Given the description of an element on the screen output the (x, y) to click on. 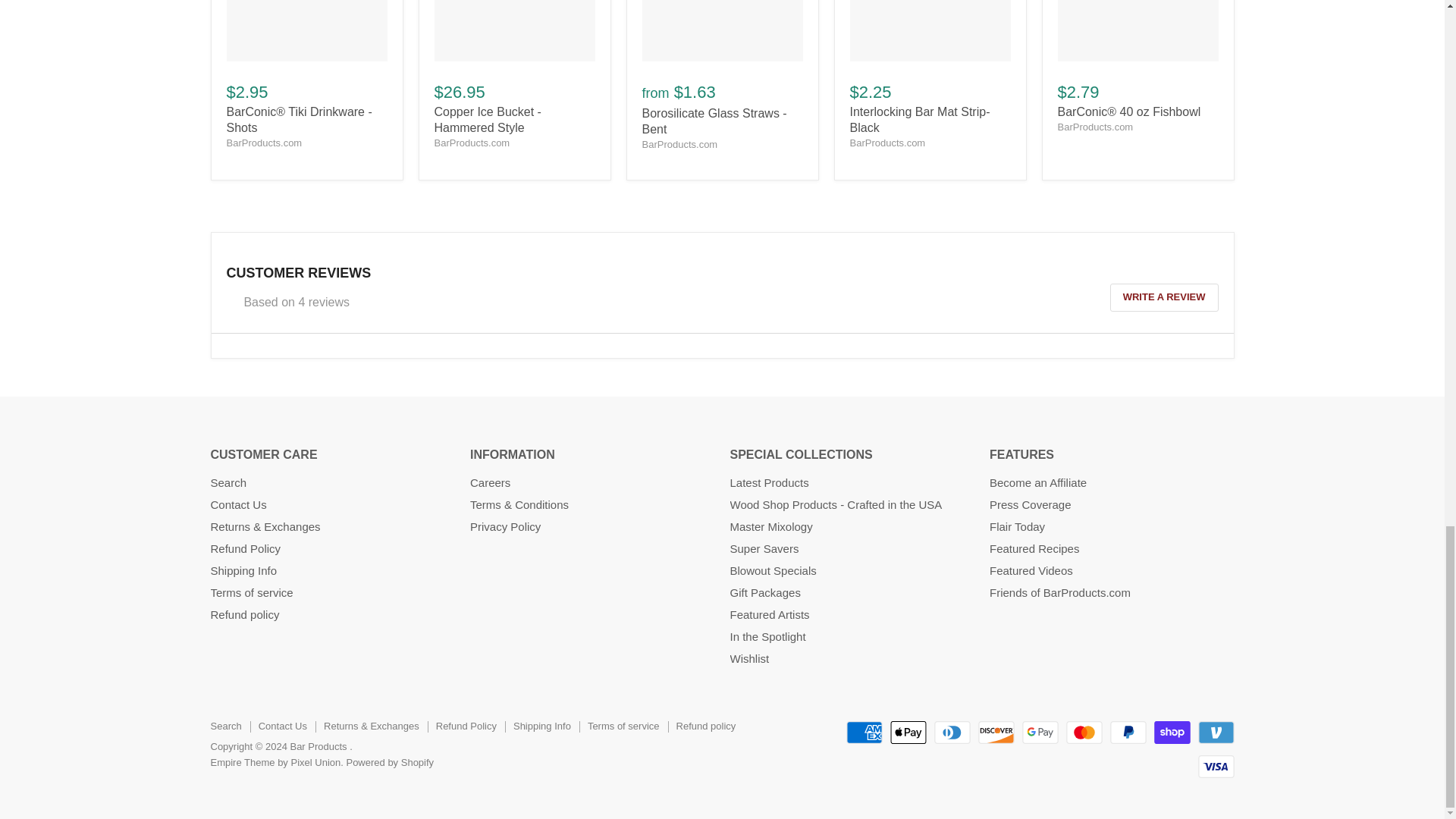
American Express (863, 732)
